Given the description of an element on the screen output the (x, y) to click on. 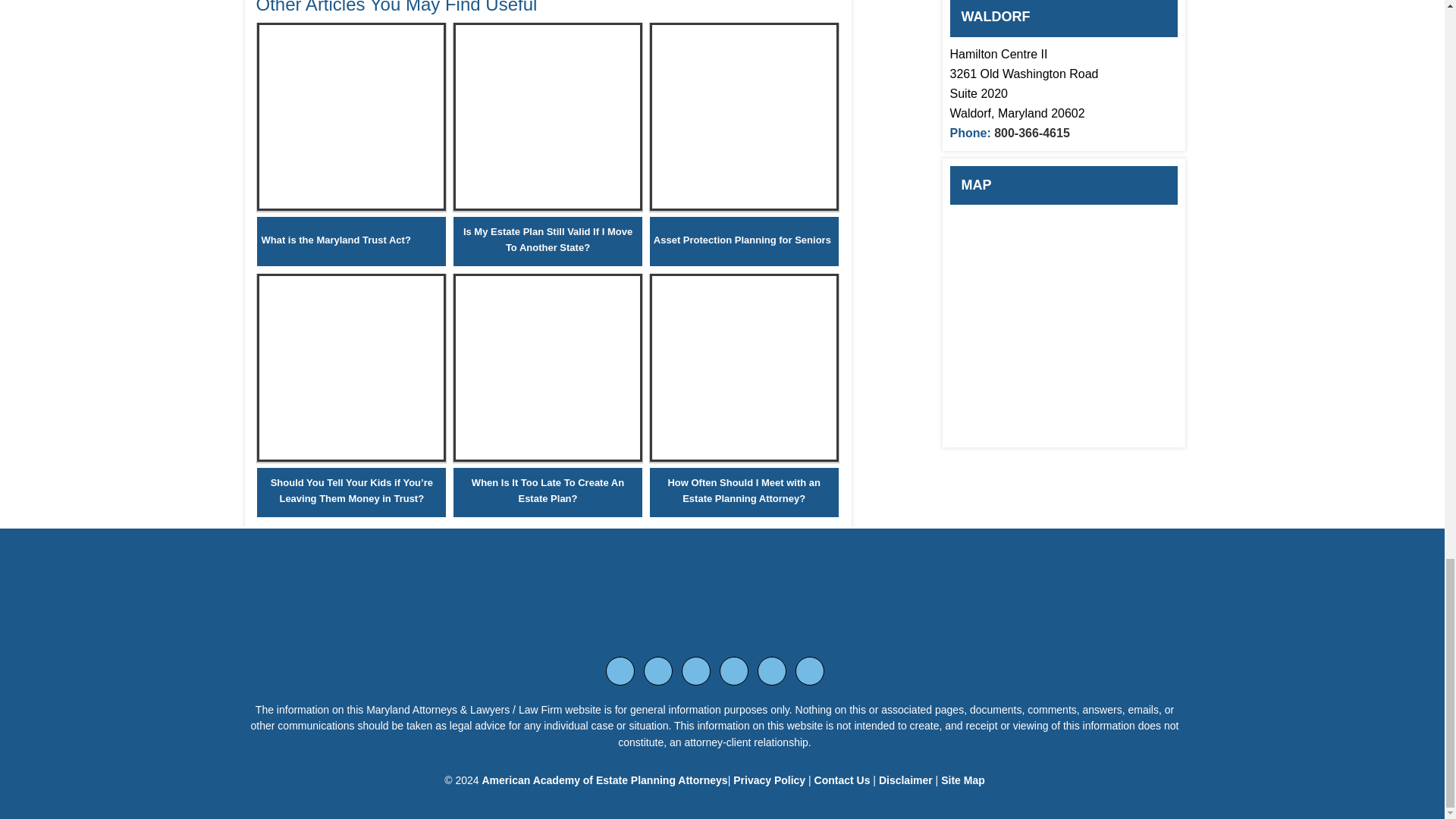
Asset Protection Planning for Seniors (742, 239)
Is My Estate Plan Still Valid If I Move To Another State? (548, 239)
When Is It Too Late To Create An Estate Plan? (547, 457)
What is the Maryland Trust Act? (335, 239)
How Often Should I Meet with an Estate Planning Attorney? (743, 457)
What is the Maryland Trust Act? (351, 205)
Is My Estate Plan Still Valid If I Move To Another State? (547, 205)
When Is It Too Late To Create An Estate Plan? (548, 490)
Asset Protection Planning for Seniors (743, 205)
